Given the description of an element on the screen output the (x, y) to click on. 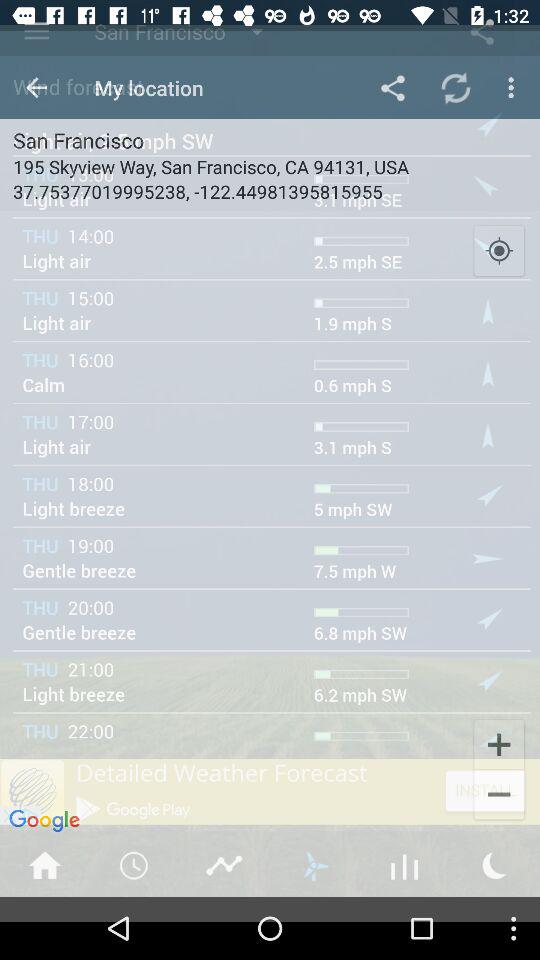
select share icon after my notification on the page (392, 63)
